Given the description of an element on the screen output the (x, y) to click on. 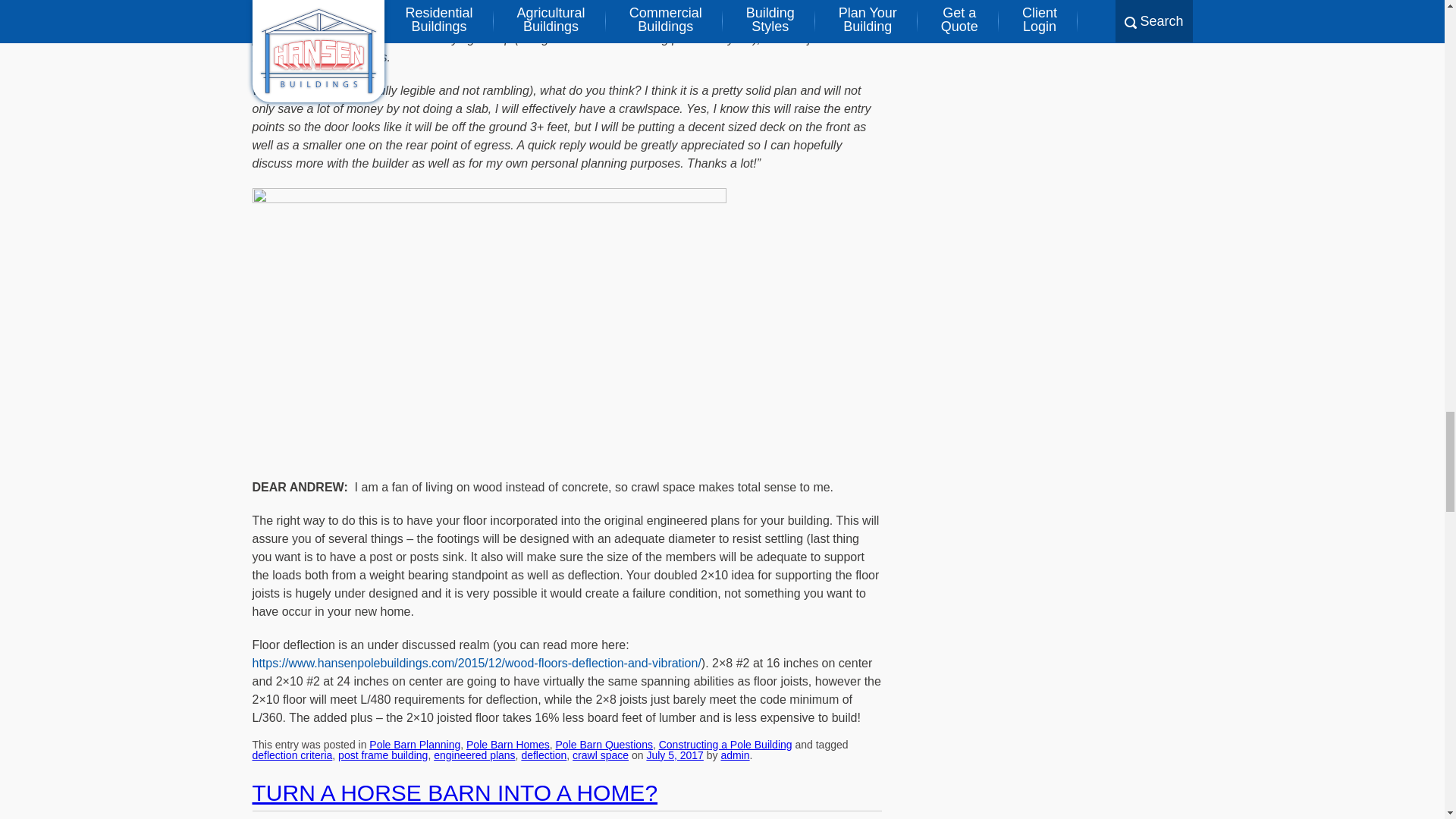
View all posts by admin (734, 755)
8:03 am (674, 755)
